Given the description of an element on the screen output the (x, y) to click on. 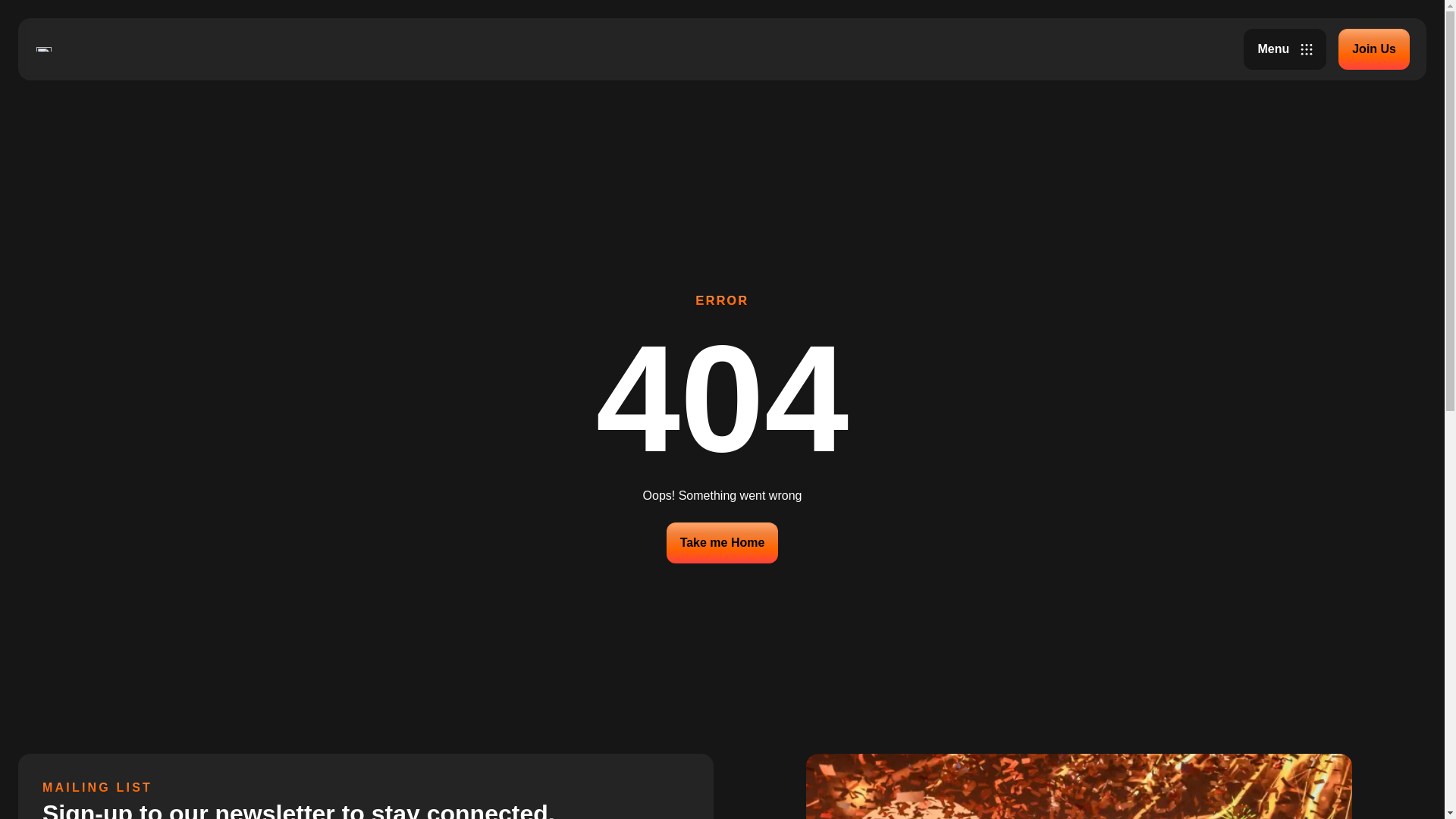
Take me Home (722, 542)
Join Us (1373, 48)
